Given the description of an element on the screen output the (x, y) to click on. 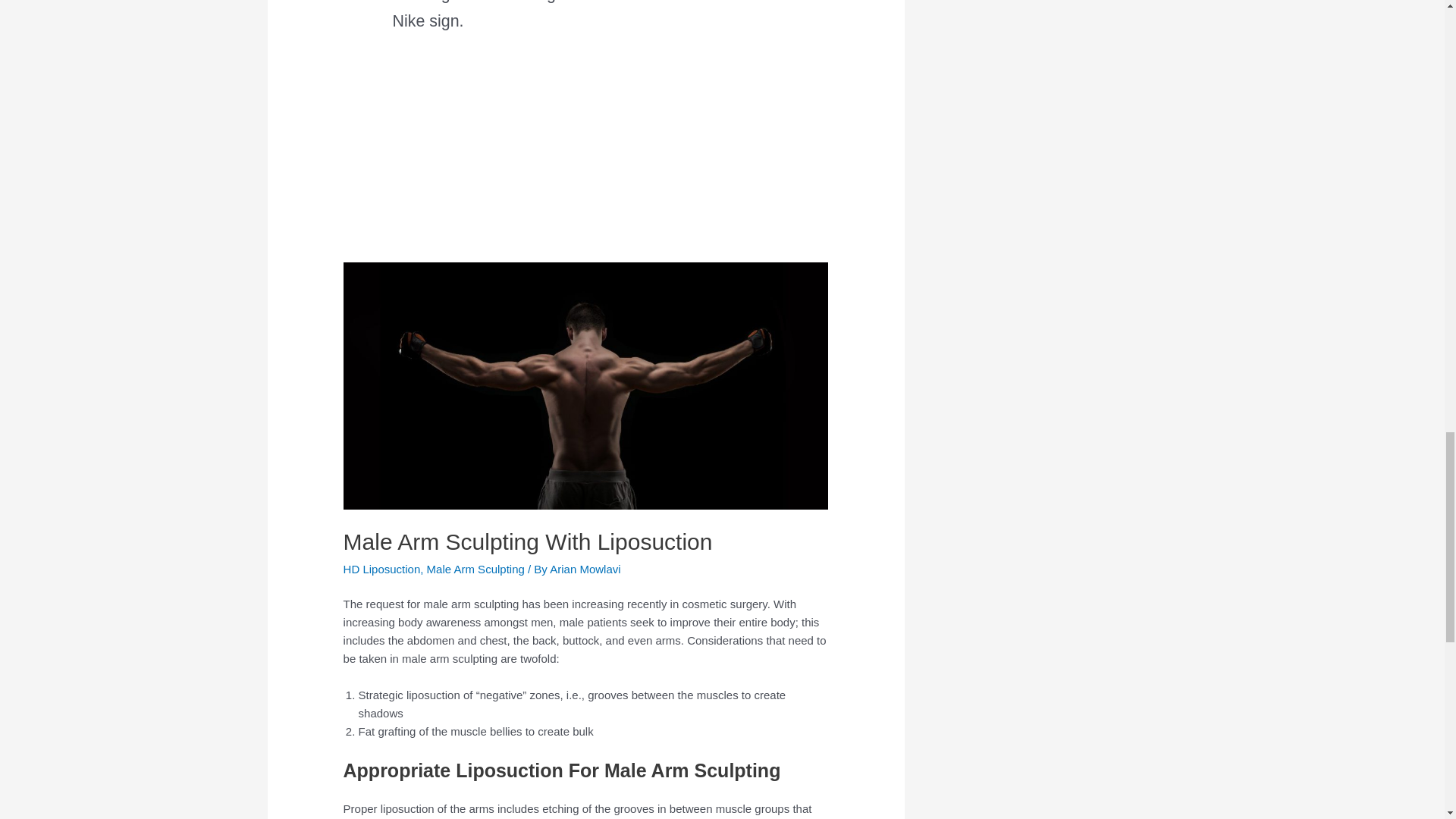
Arian Mowlavi (585, 568)
Male Arm Sculpting (475, 568)
View all posts by Arian Mowlavi (585, 568)
Male Arm Sculpting With Liposuction (528, 541)
HD Liposuction (381, 568)
